Given the description of an element on the screen output the (x, y) to click on. 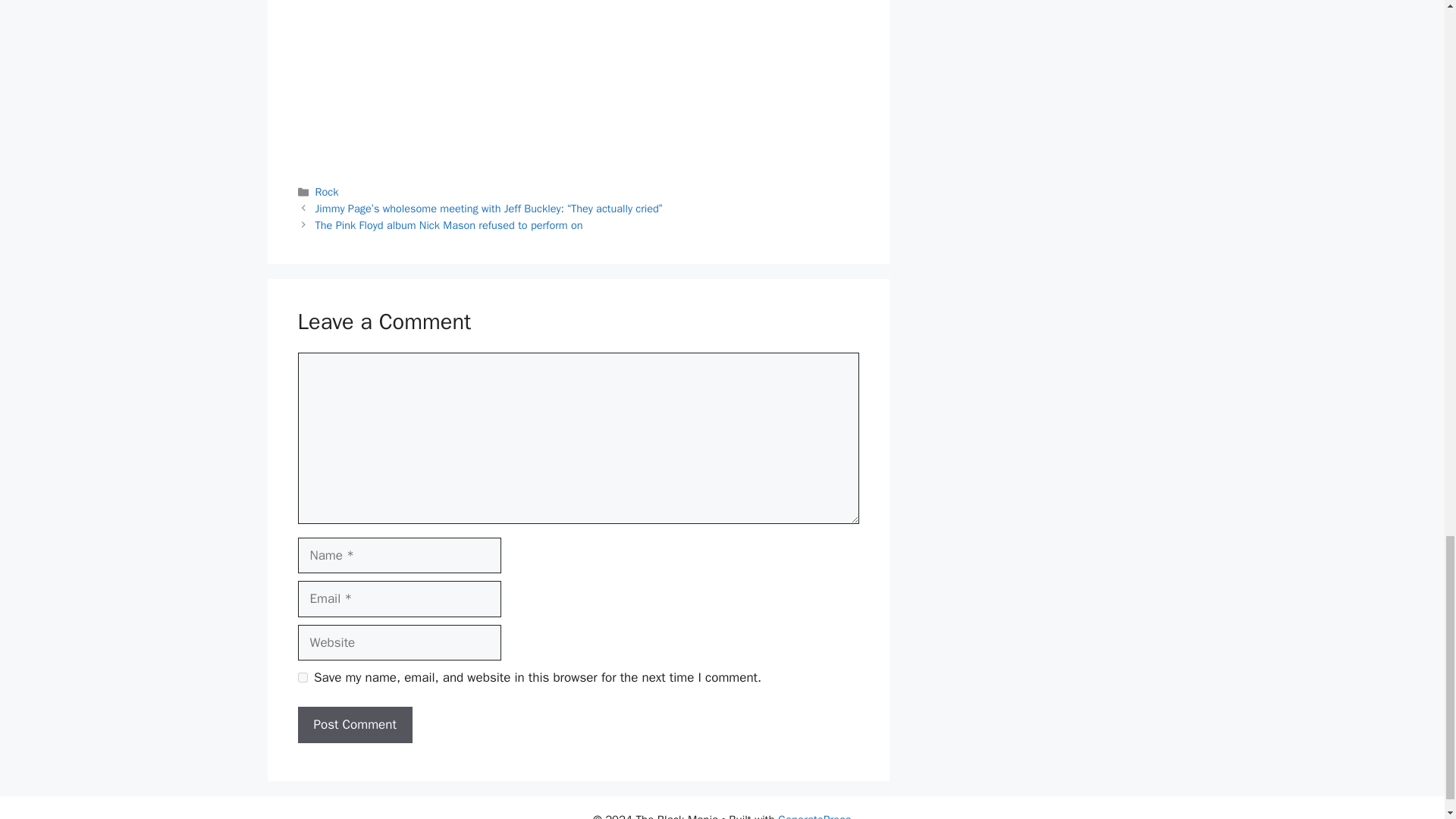
Rock (327, 192)
The Pink Floyd album Nick Mason refused to perform on (449, 224)
Don't Do Me Like That (578, 78)
Post Comment (354, 724)
GeneratePress (814, 816)
yes (302, 677)
Post Comment (354, 724)
